Given the description of an element on the screen output the (x, y) to click on. 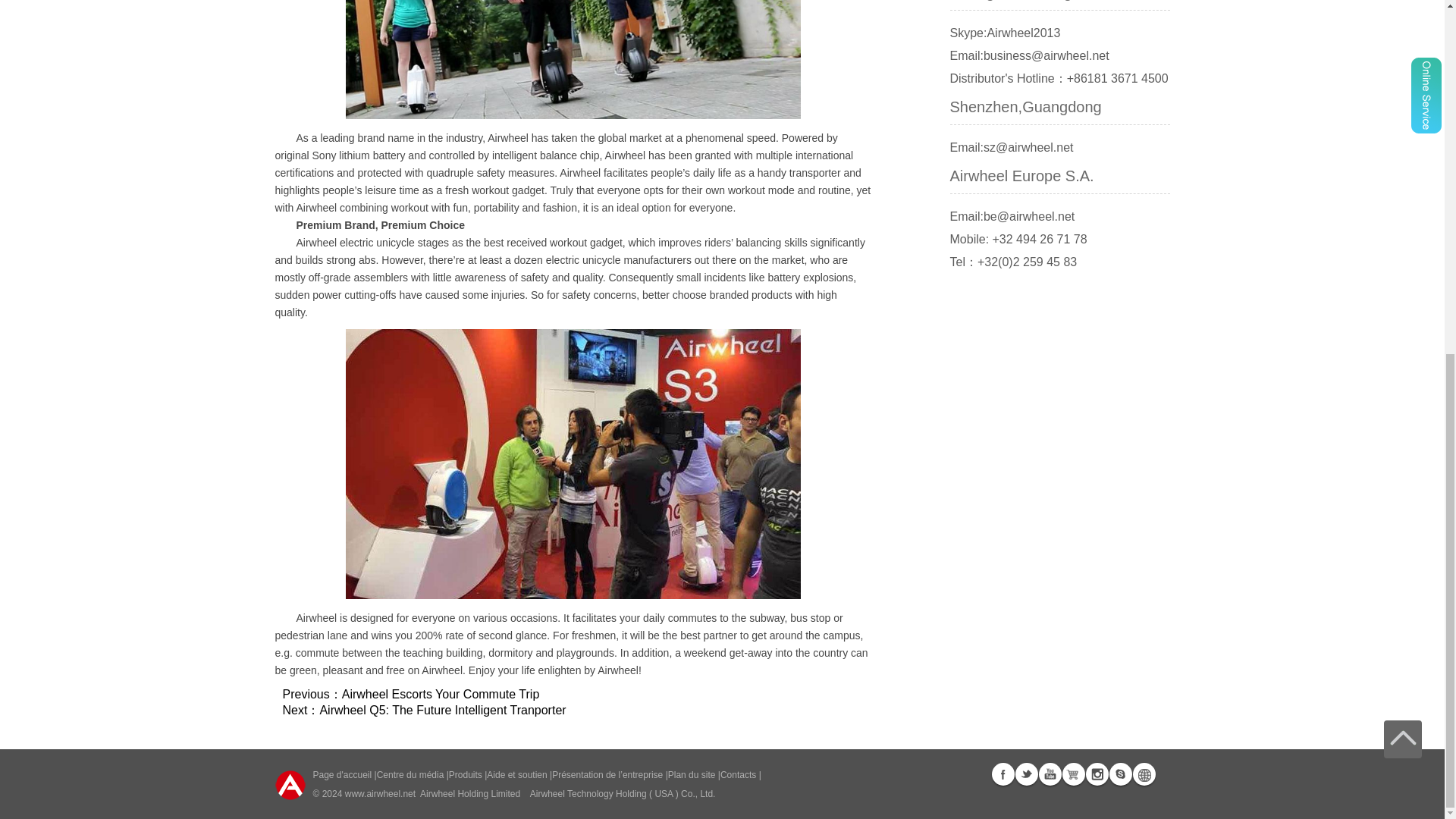
Twitter (1025, 773)
Youtube (1050, 773)
Airwheel Q5: The Future Intelligent Tranporter (442, 709)
Facebook (1002, 773)
Airwheel Store (1072, 773)
Skype (1119, 773)
Instagram (1097, 773)
Airwheel Escorts Your Commute Trip (441, 694)
Global (1144, 773)
